Given the description of an element on the screen output the (x, y) to click on. 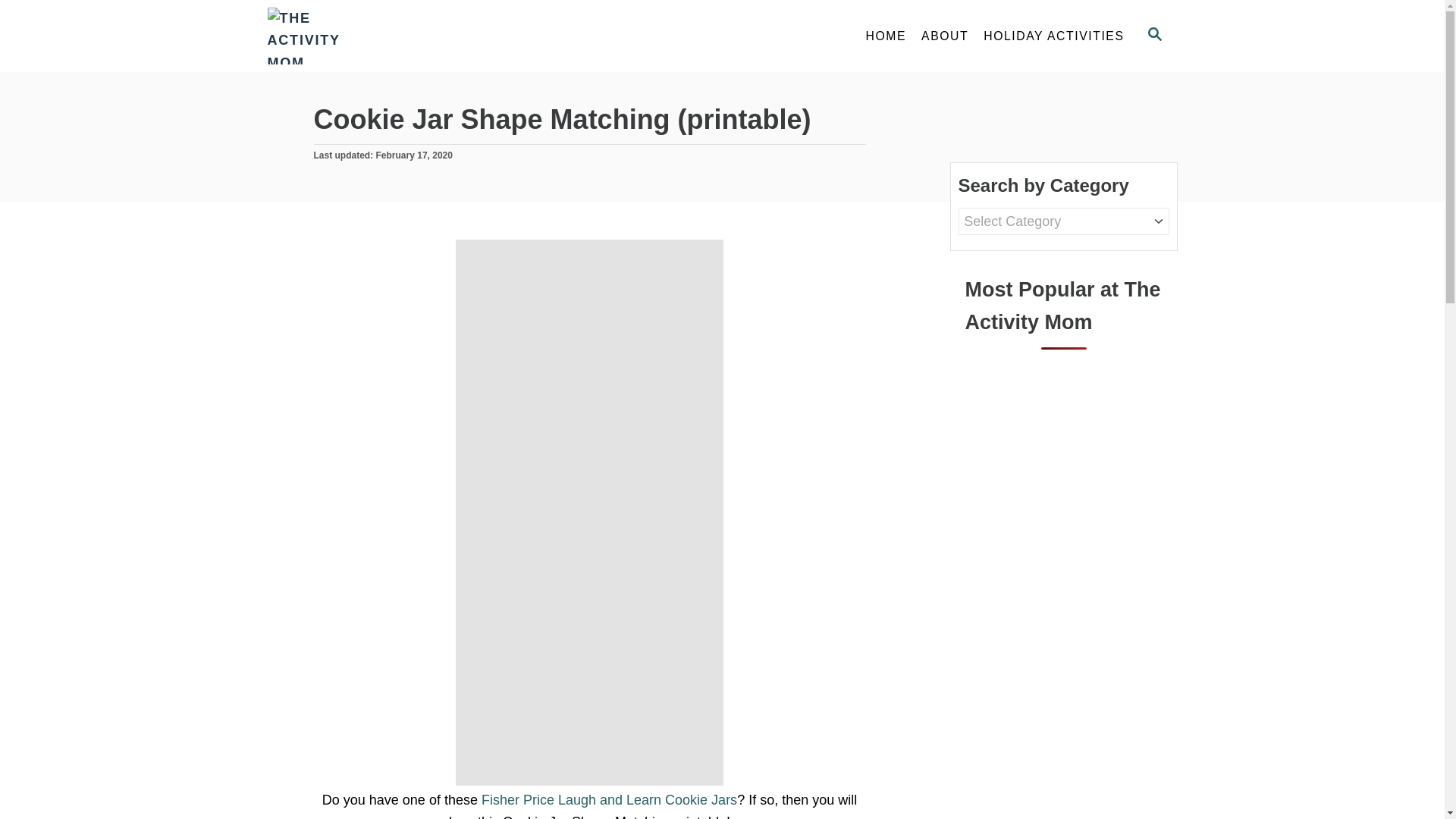
Fisher Price Laugh and Learn Cookie Jars (608, 798)
ABOUT (1153, 35)
MAGNIFYING GLASS (944, 36)
HOME (1153, 34)
The Activity Mom (885, 36)
HOLIDAY ACTIVITIES (403, 36)
